Given the description of an element on the screen output the (x, y) to click on. 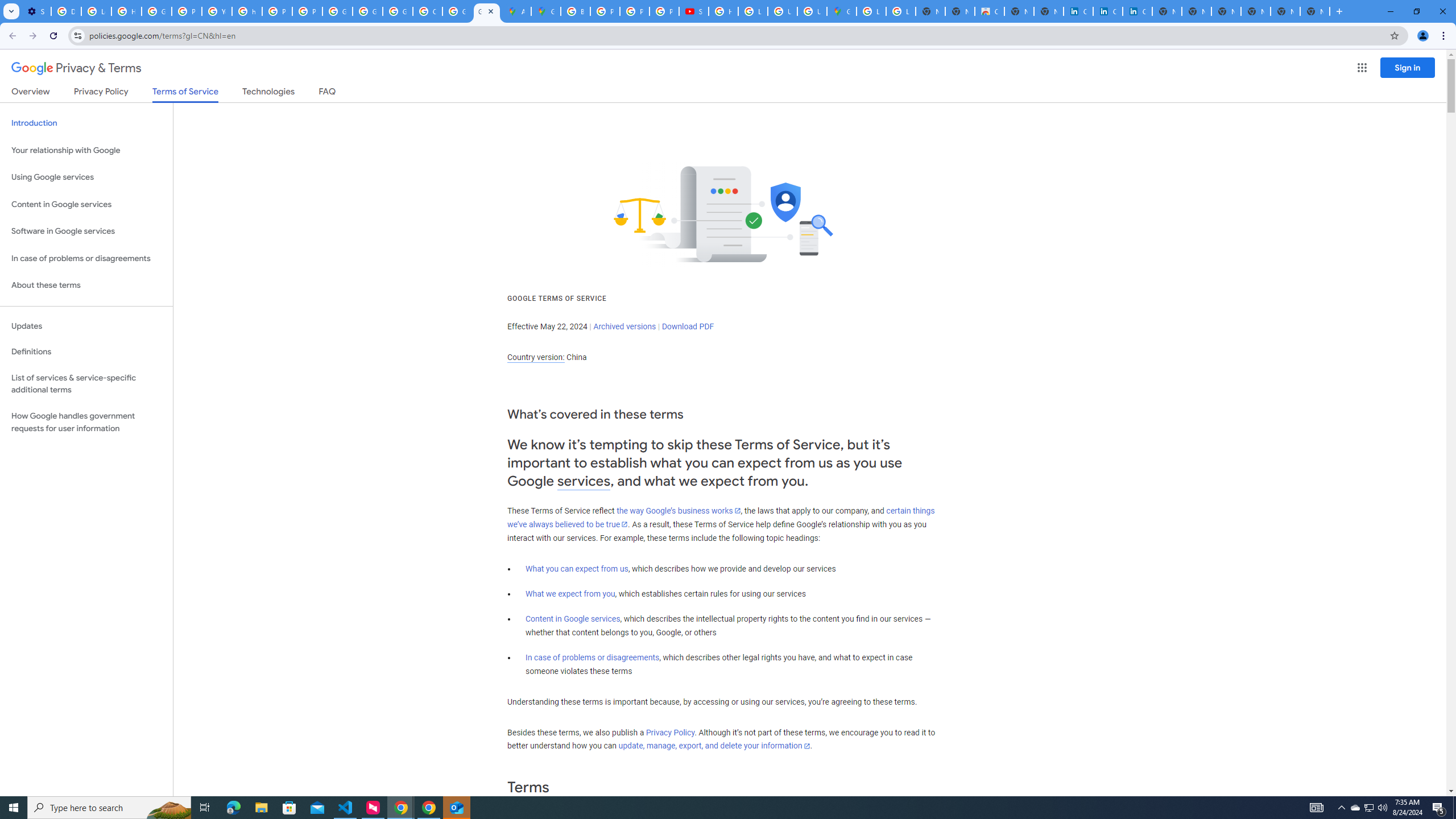
In case of problems or disagreements (592, 657)
Google Maps (545, 11)
Using Google services (86, 176)
Archived versions (624, 326)
services (583, 480)
Subscriptions - YouTube (693, 11)
update, manage, export, and delete your information (714, 746)
